Given the description of an element on the screen output the (x, y) to click on. 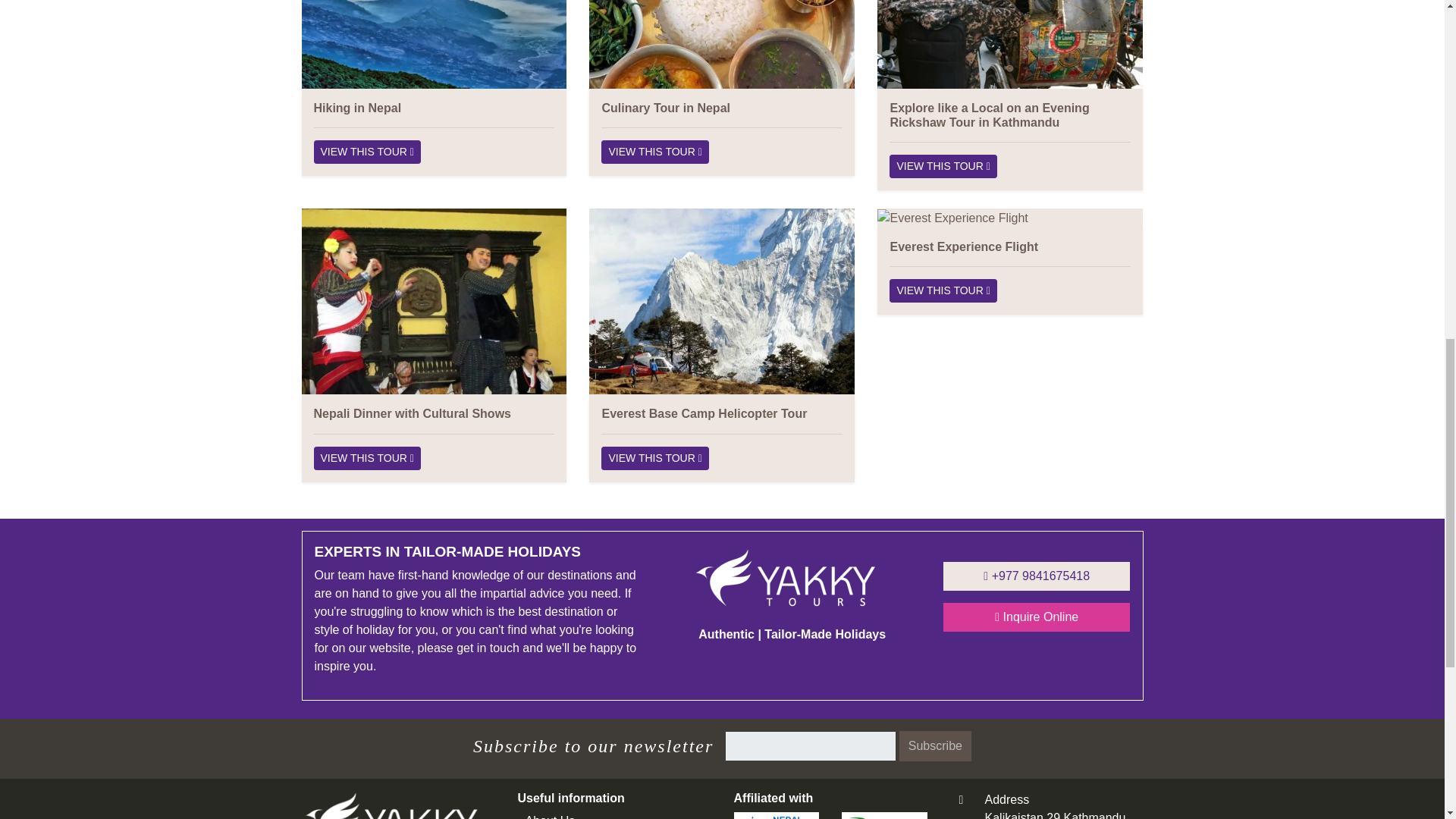
VIEW THIS TOUR (942, 166)
VIEW THIS TOUR (654, 458)
Nepali Dinner with Cultural Shows (367, 458)
Everest Experience Flight (963, 246)
Hiking in Nepal (357, 107)
Inquire Online (1037, 616)
Everest Base Camp Helicopter Tour (654, 458)
Everest Base Camp Helicopter Tour (703, 413)
VIEW THIS TOUR (942, 290)
Culinary Tour in Nepal (665, 107)
